Given the description of an element on the screen output the (x, y) to click on. 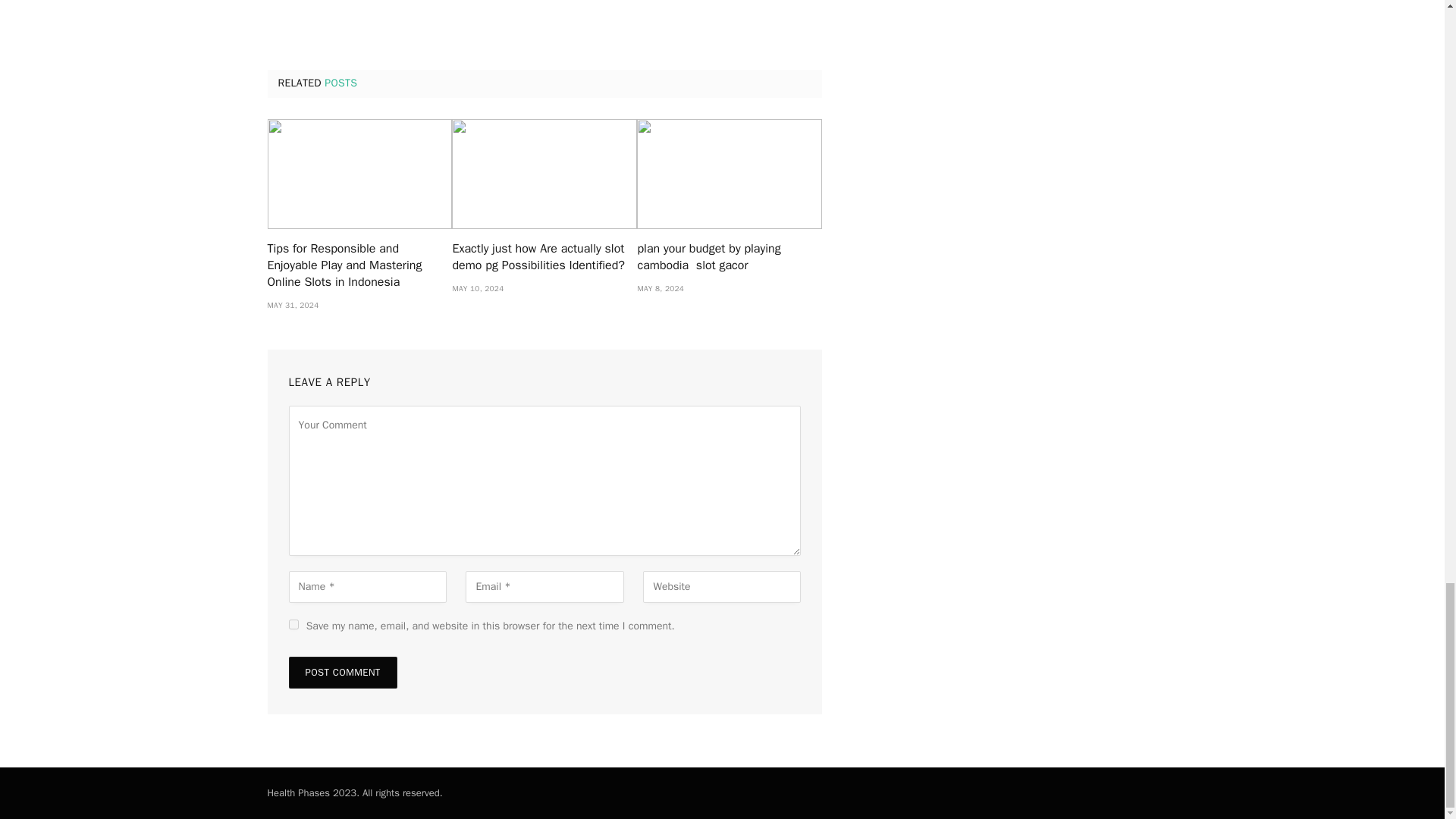
Post Comment (342, 672)
yes (293, 624)
